Given the description of an element on the screen output the (x, y) to click on. 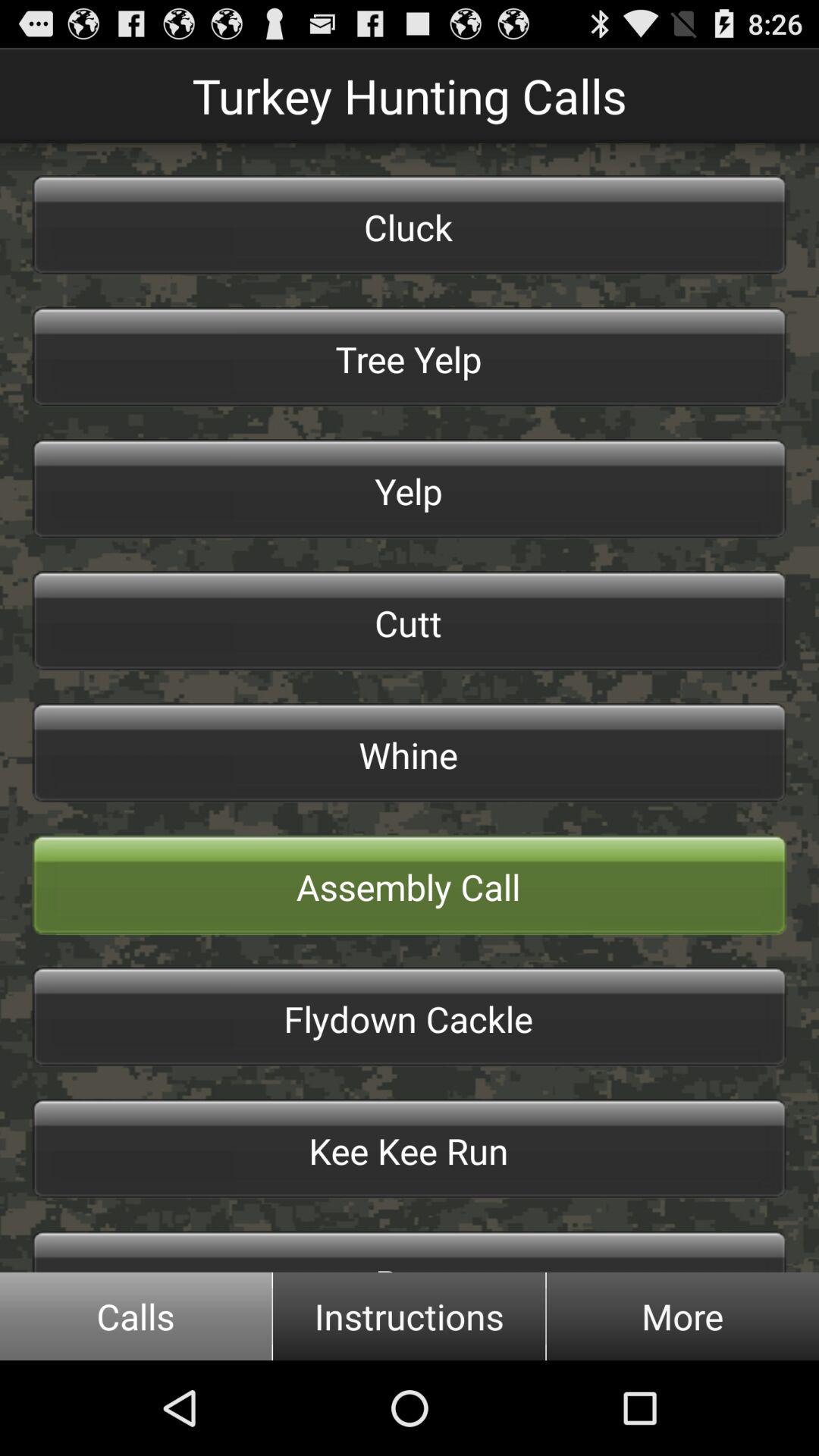
launch the kee kee run item (409, 1148)
